Given the description of an element on the screen output the (x, y) to click on. 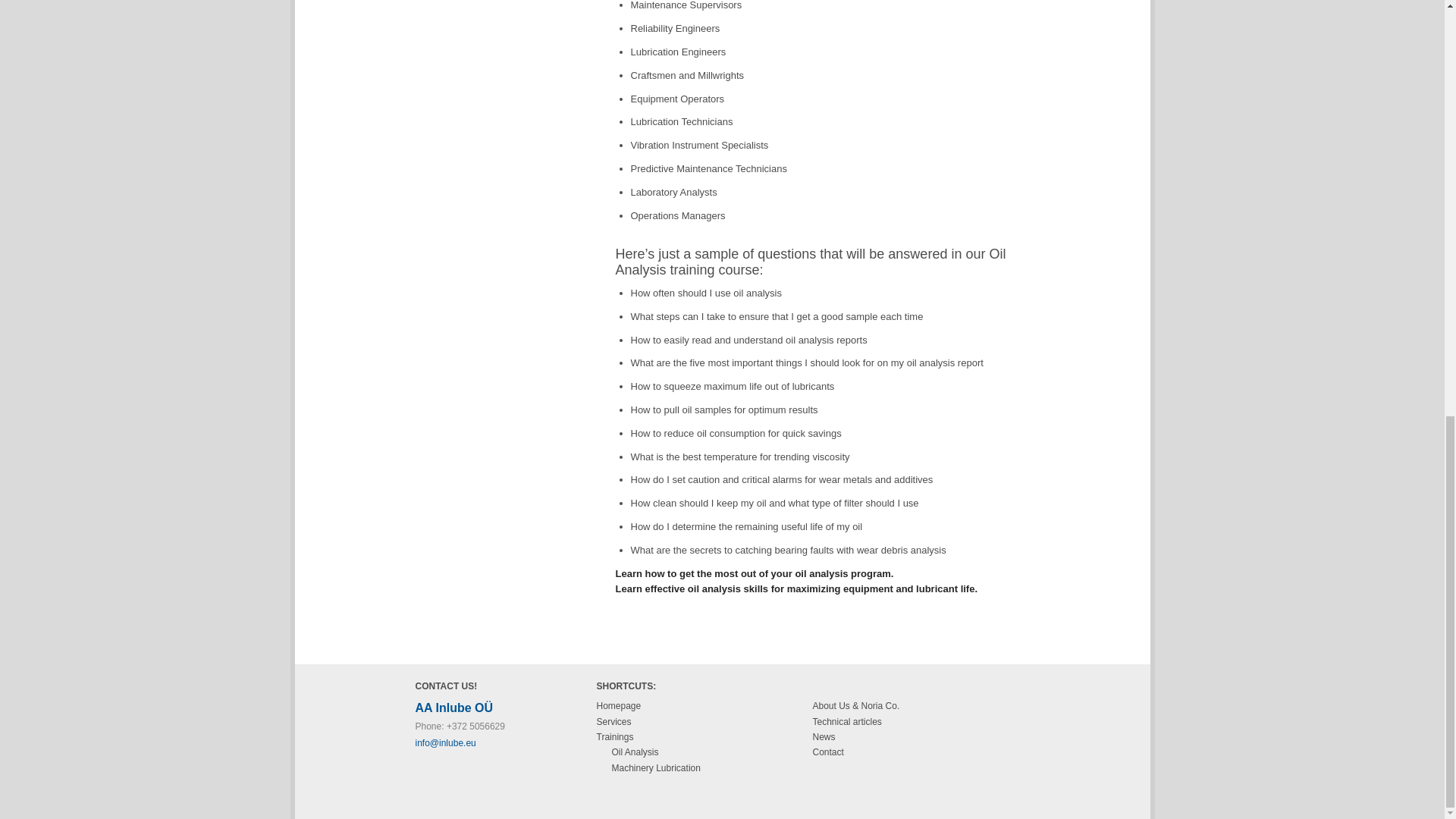
Trainings (614, 737)
Technical articles (847, 721)
Oil Analysis (634, 751)
News (823, 737)
Services (612, 721)
Machinery Lubrication (655, 767)
Contact (828, 751)
Homepage (617, 706)
